Given the description of an element on the screen output the (x, y) to click on. 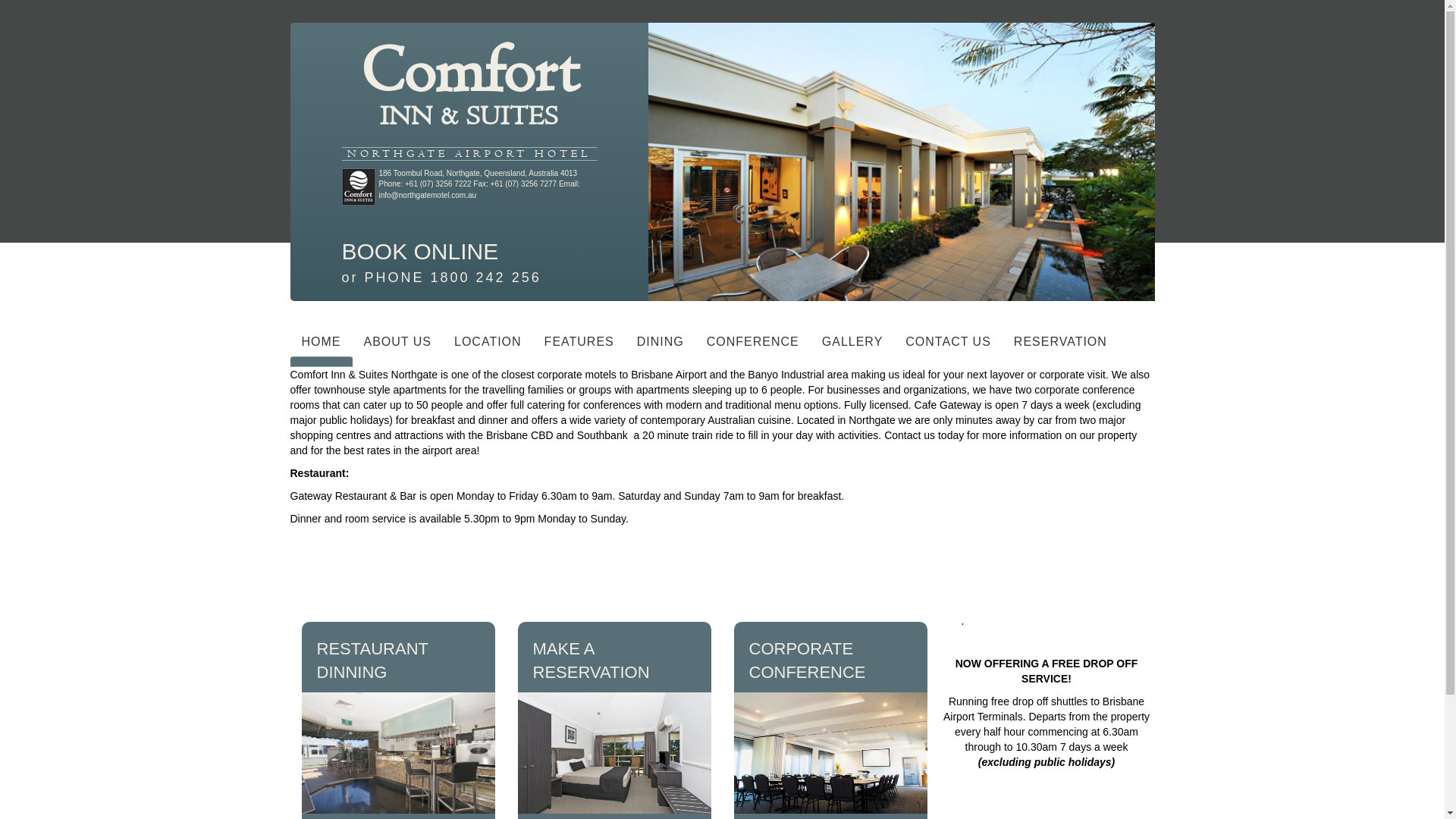
BOOK ONLINE Element type: text (419, 250)
MAKE A RESERVATION Element type: text (590, 660)
HOME Element type: text (320, 345)
ABOUT US Element type: text (396, 345)
CONTACT US Element type: text (948, 345)
RESERVATION Element type: text (1060, 345)
DINING Element type: text (660, 345)
RESTAURANT DINNING Element type: text (372, 660)
GALLERY Element type: text (852, 345)
CONFERENCE Element type: text (752, 345)
LOCATION Element type: text (487, 345)
FEATURES Element type: text (579, 345)
Email: info@northgatemotel.com.au Element type: text (479, 188)
CORPORATE CONFERENCE Element type: text (807, 660)
